Given the description of an element on the screen output the (x, y) to click on. 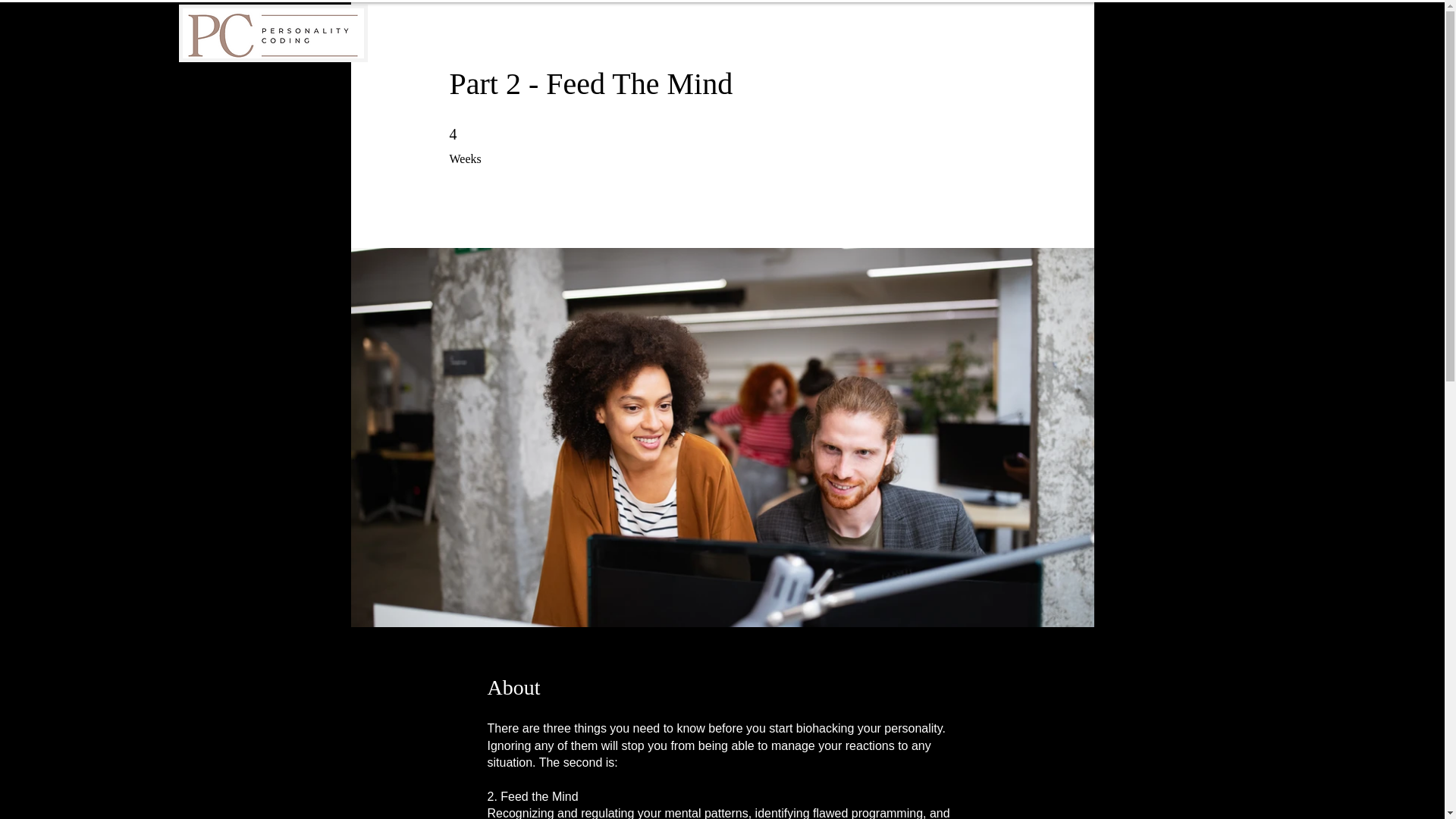
Personaity Coding Logo reresents People Changing their life (273, 33)
